Given the description of an element on the screen output the (x, y) to click on. 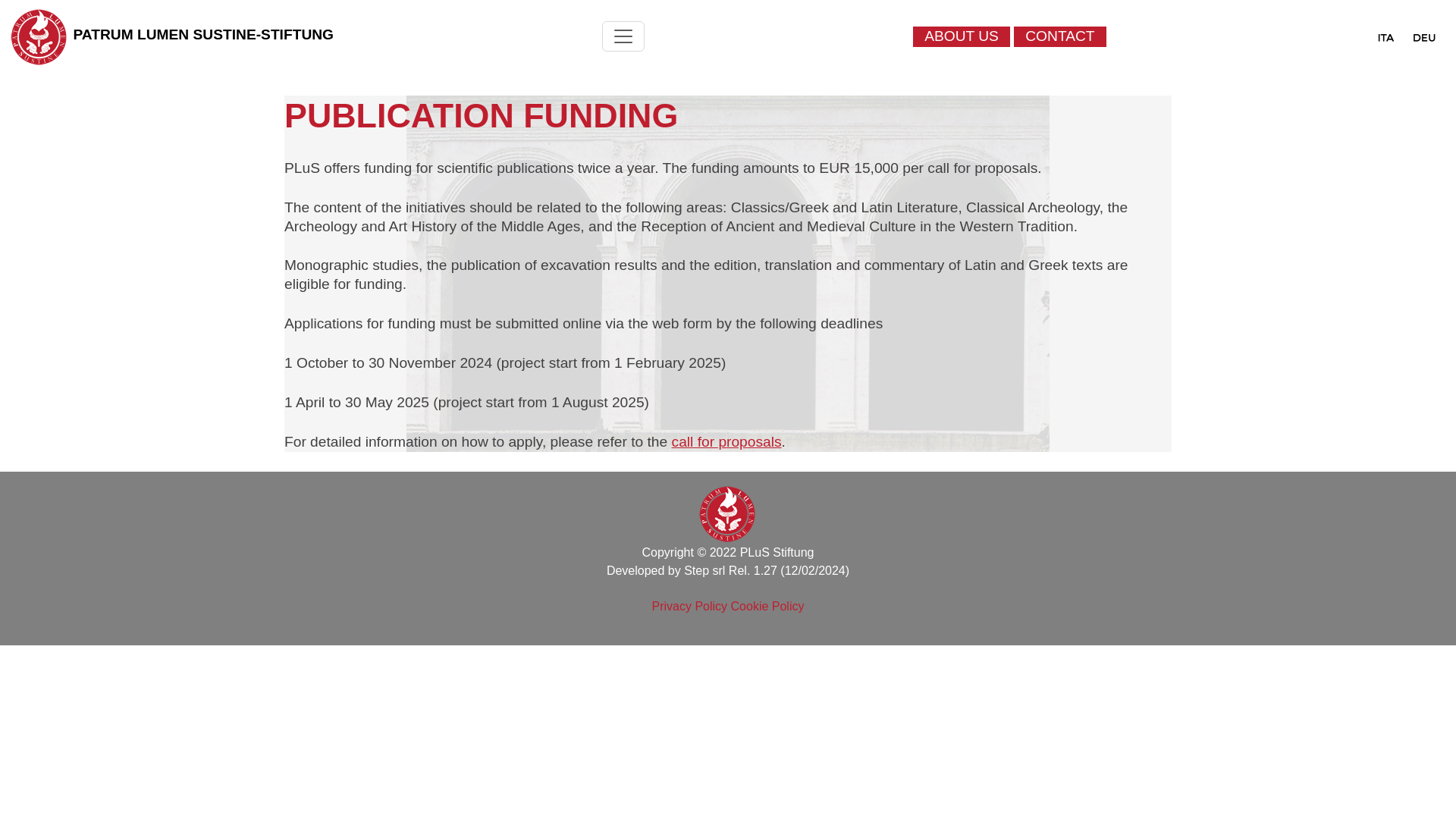
Cookie Policy (767, 605)
Cookie Policy  (767, 605)
ABOUT US (961, 35)
Privacy Policy (690, 605)
CONTACT (1059, 35)
call for proposals (726, 441)
PATRUM LUMEN SUSTINE-STIFTUNG (202, 34)
Privacy Policy  (690, 605)
